Given the description of an element on the screen output the (x, y) to click on. 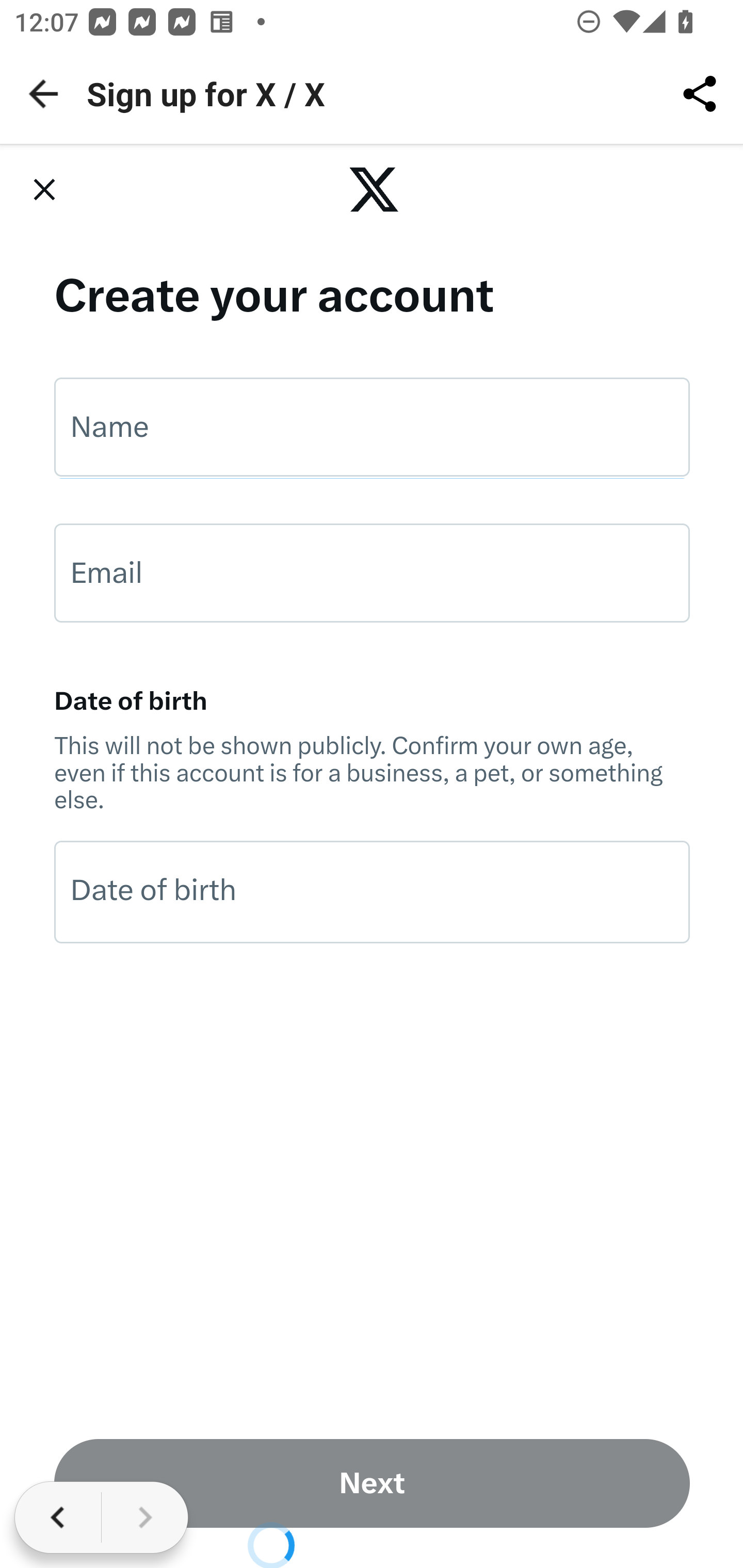
Close (43, 188)
Next (372, 1482)
